Given the description of an element on the screen output the (x, y) to click on. 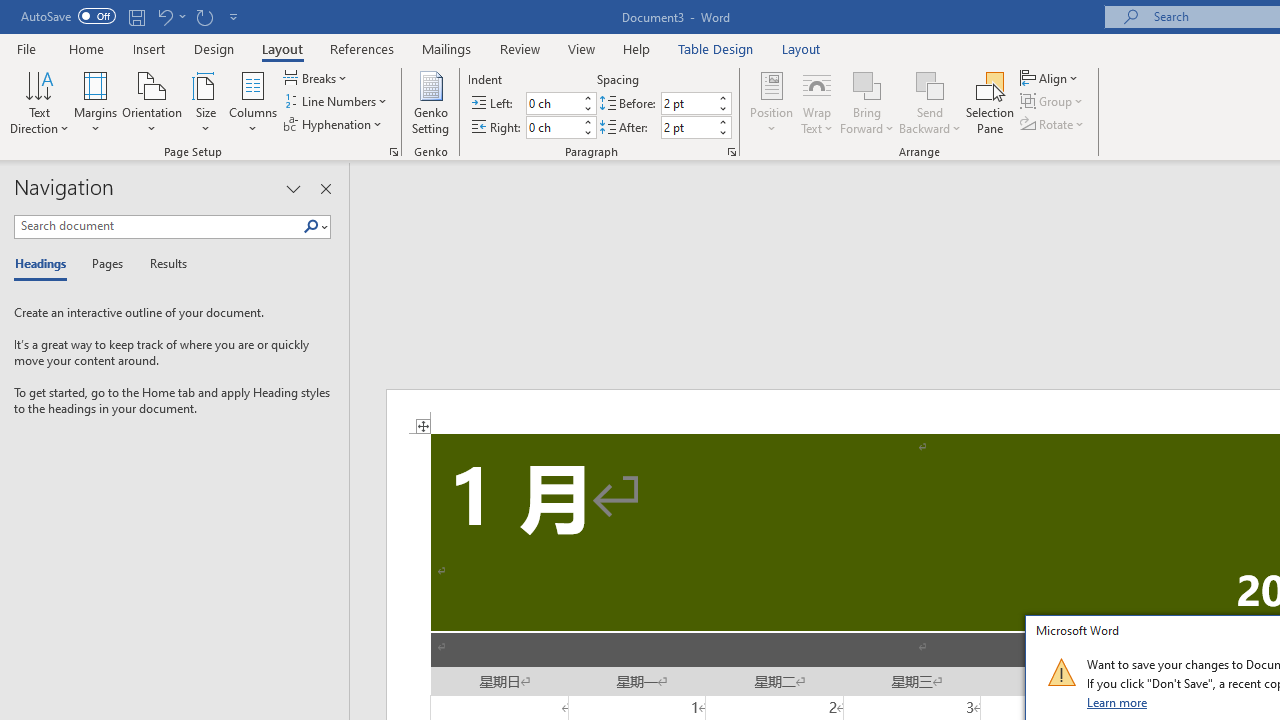
Repeat Doc Close (204, 15)
Mailings (447, 48)
Insert (149, 48)
Columns (253, 102)
Spacing After (687, 127)
Selection Pane... (990, 102)
Learn more (1118, 702)
Undo Increase Indent (170, 15)
Table Design (715, 48)
Text Direction (39, 102)
More (722, 121)
